Given the description of an element on the screen output the (x, y) to click on. 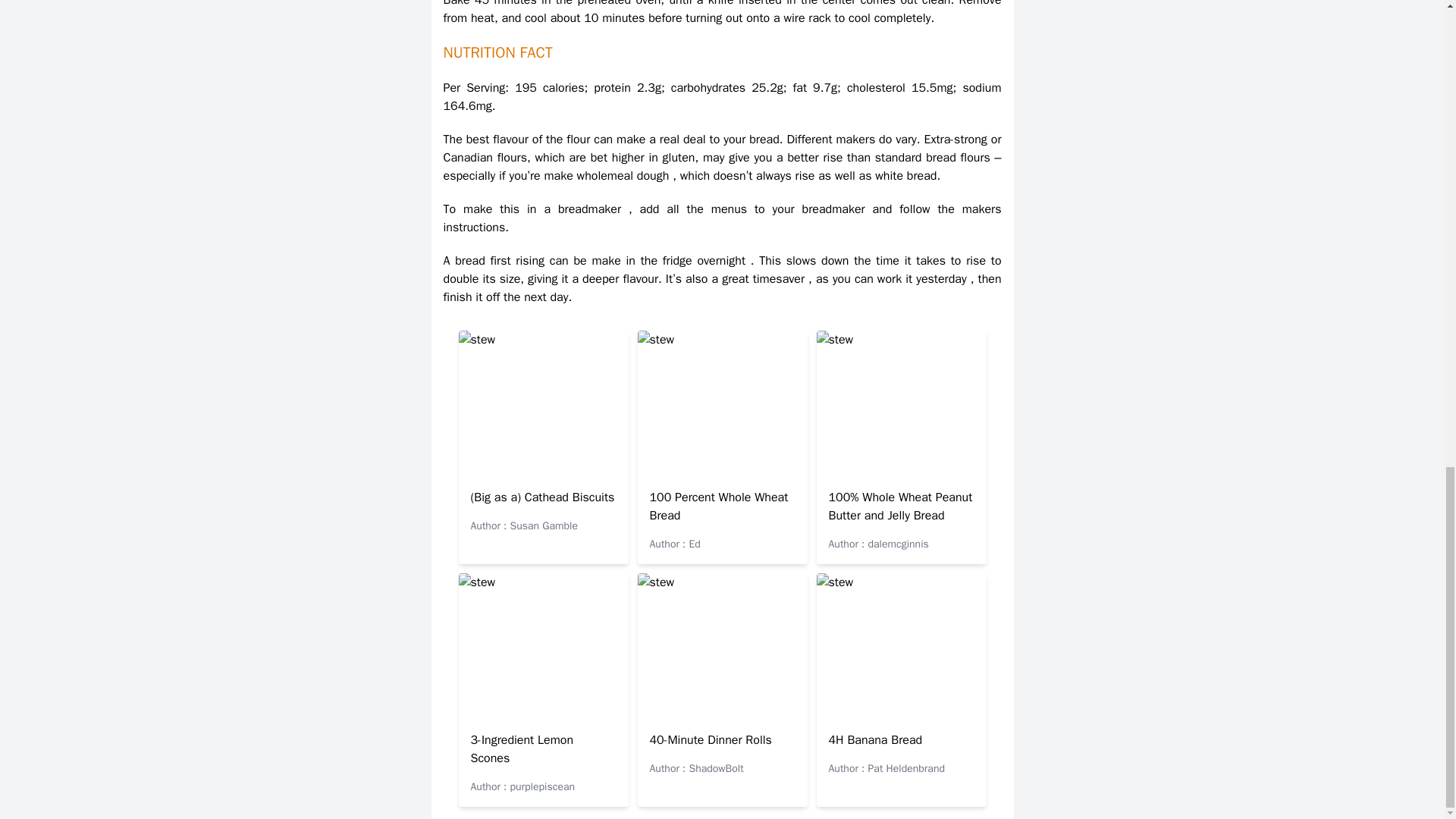
40-Minute Dinner Rolls (710, 739)
3-Ingredient Lemon Scones (521, 748)
4H Banana Bread (874, 739)
100 Percent Whole Wheat Bread (718, 506)
